Given the description of an element on the screen output the (x, y) to click on. 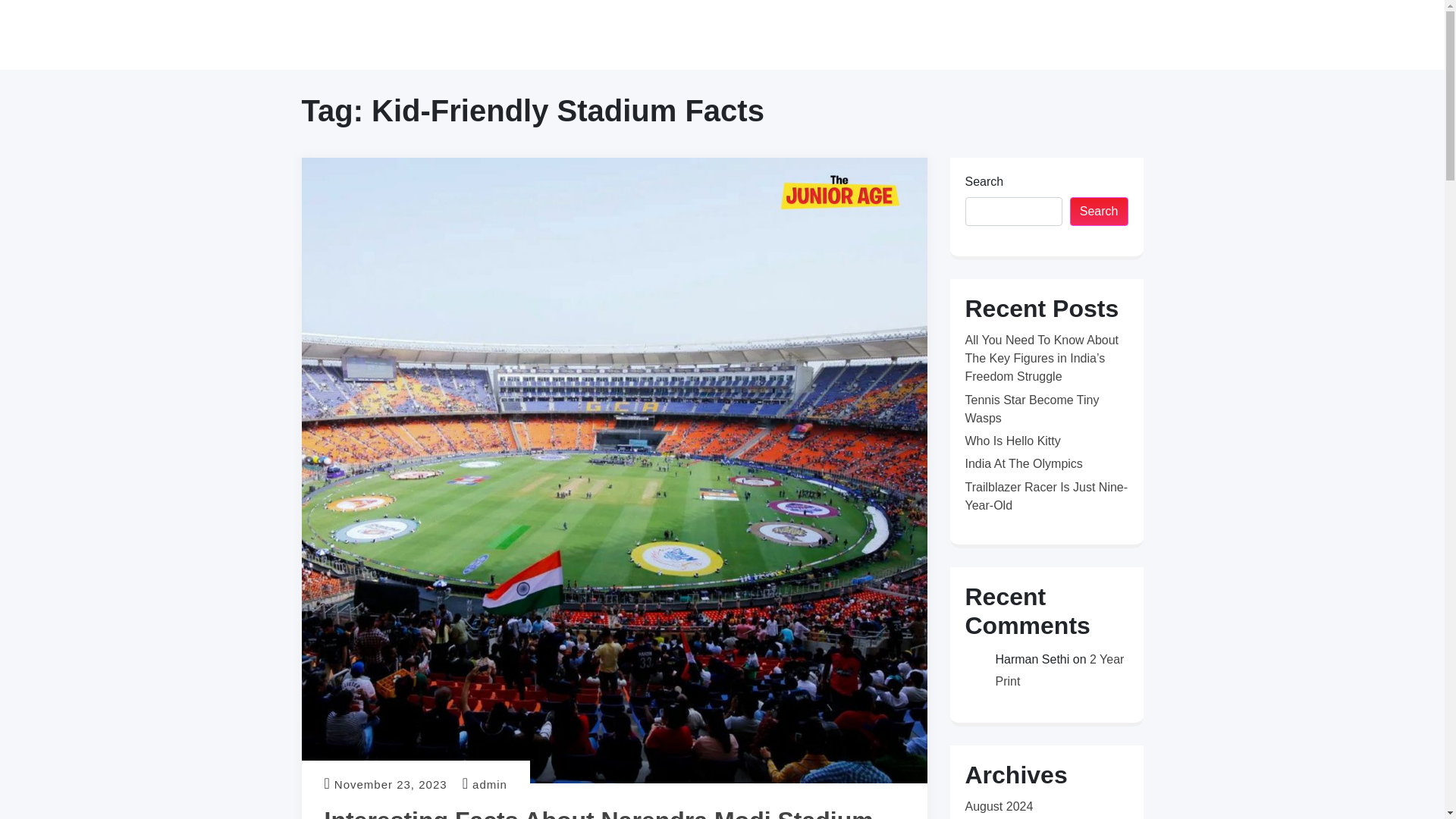
Tennis Star Become Tiny Wasps (1031, 409)
Who Is Hello Kitty (1011, 440)
Search (1099, 211)
Trailblazer Racer Is Just Nine-Year-Old (1044, 495)
India At The Olympics (1022, 463)
Interesting Facts About Narendra Modi Stadium For Children (598, 812)
August 2024 (997, 806)
2 Year Print (1059, 669)
November 23, 2023 (390, 784)
admin (488, 784)
